Given the description of an element on the screen output the (x, y) to click on. 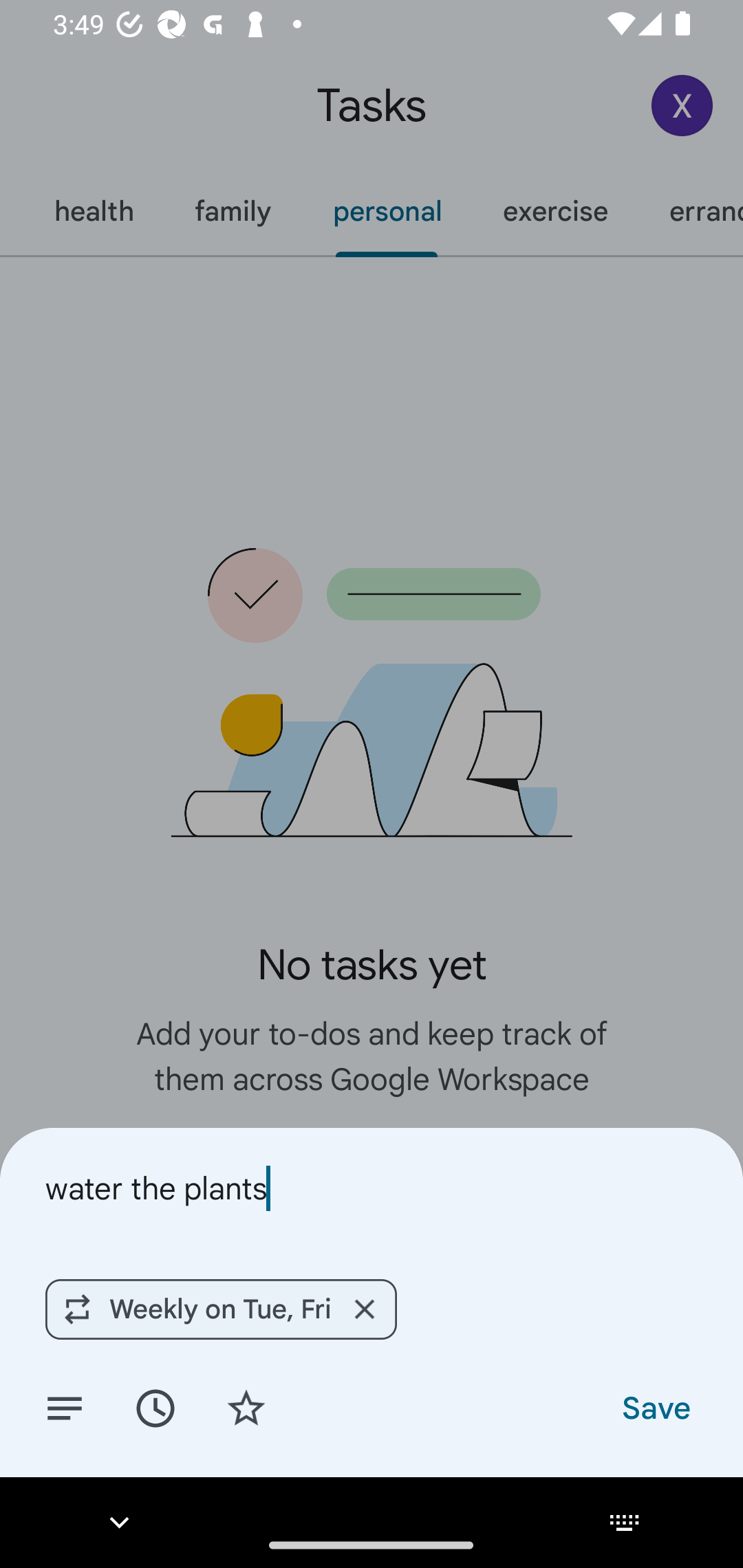
water the plants (371, 1188)
Weekly on Tue, Fri Remove Weekly on Tue, Fri (220, 1308)
Save (655, 1407)
Add details (64, 1407)
Set date/time (154, 1407)
Add star (245, 1407)
